Given the description of an element on the screen output the (x, y) to click on. 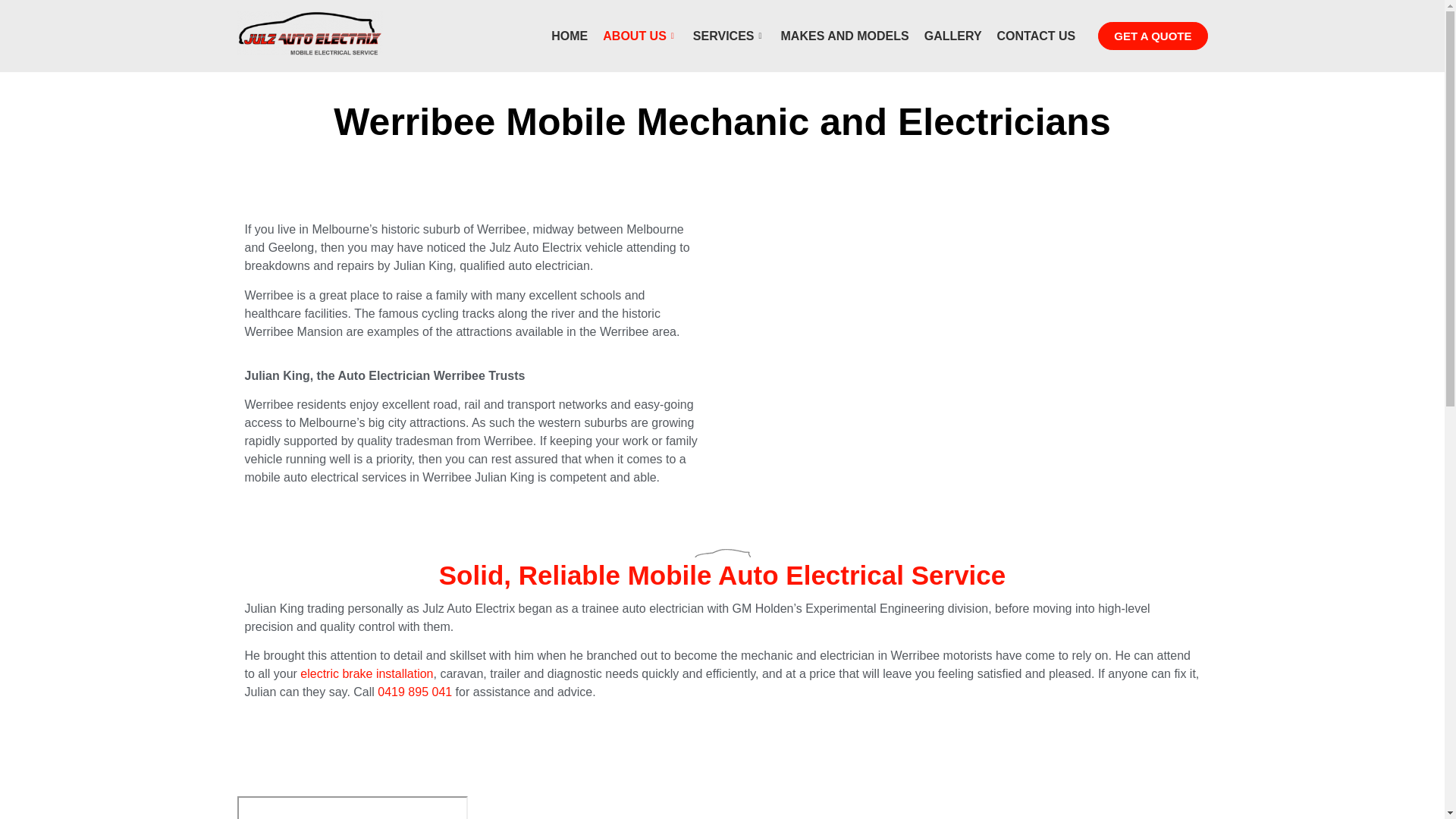
MAKES AND MODELS Element type: text (844, 35)
ABOUT US Element type: text (640, 35)
GALLERY Element type: text (952, 35)
electric brake installation Element type: text (366, 673)
CONTACT US Element type: text (1036, 35)
HOME Element type: text (569, 35)
SERVICES Element type: text (729, 35)
0419 895 041 Element type: text (414, 691)
GET A QUOTE Element type: text (1152, 35)
